Given the description of an element on the screen output the (x, y) to click on. 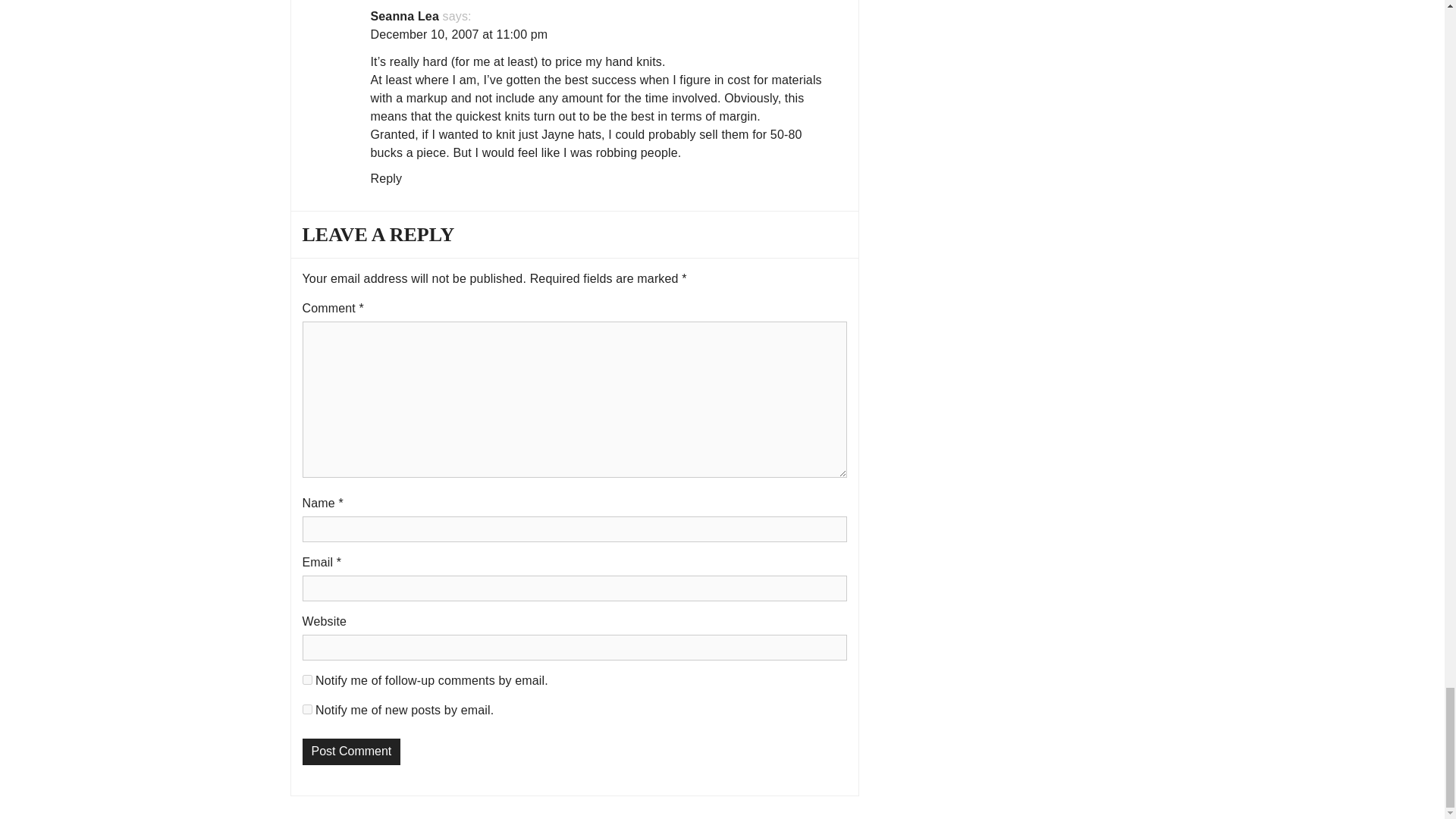
subscribe (306, 709)
Post Comment (350, 751)
subscribe (306, 679)
